Given the description of an element on the screen output the (x, y) to click on. 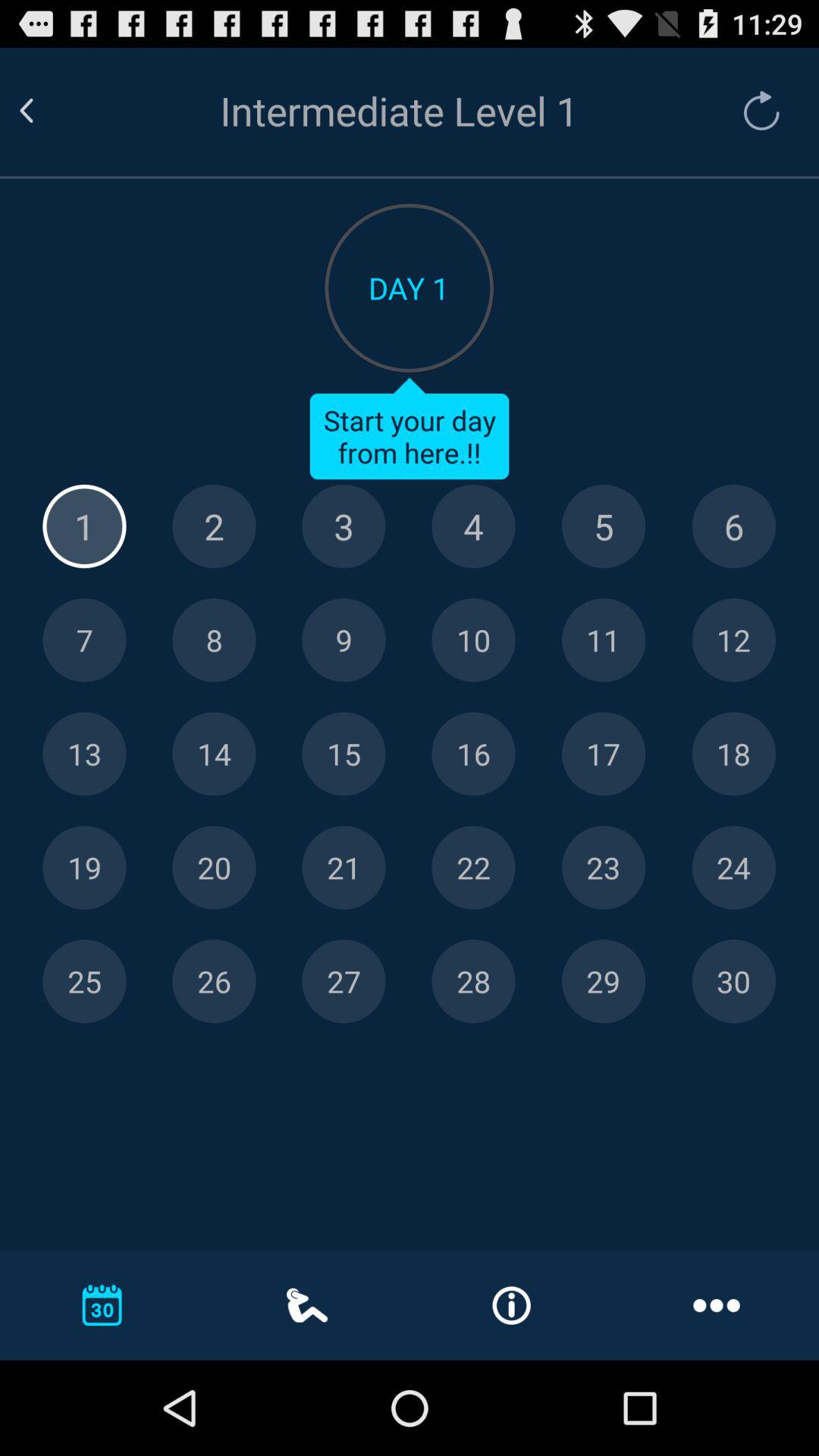
select day (473, 867)
